Given the description of an element on the screen output the (x, y) to click on. 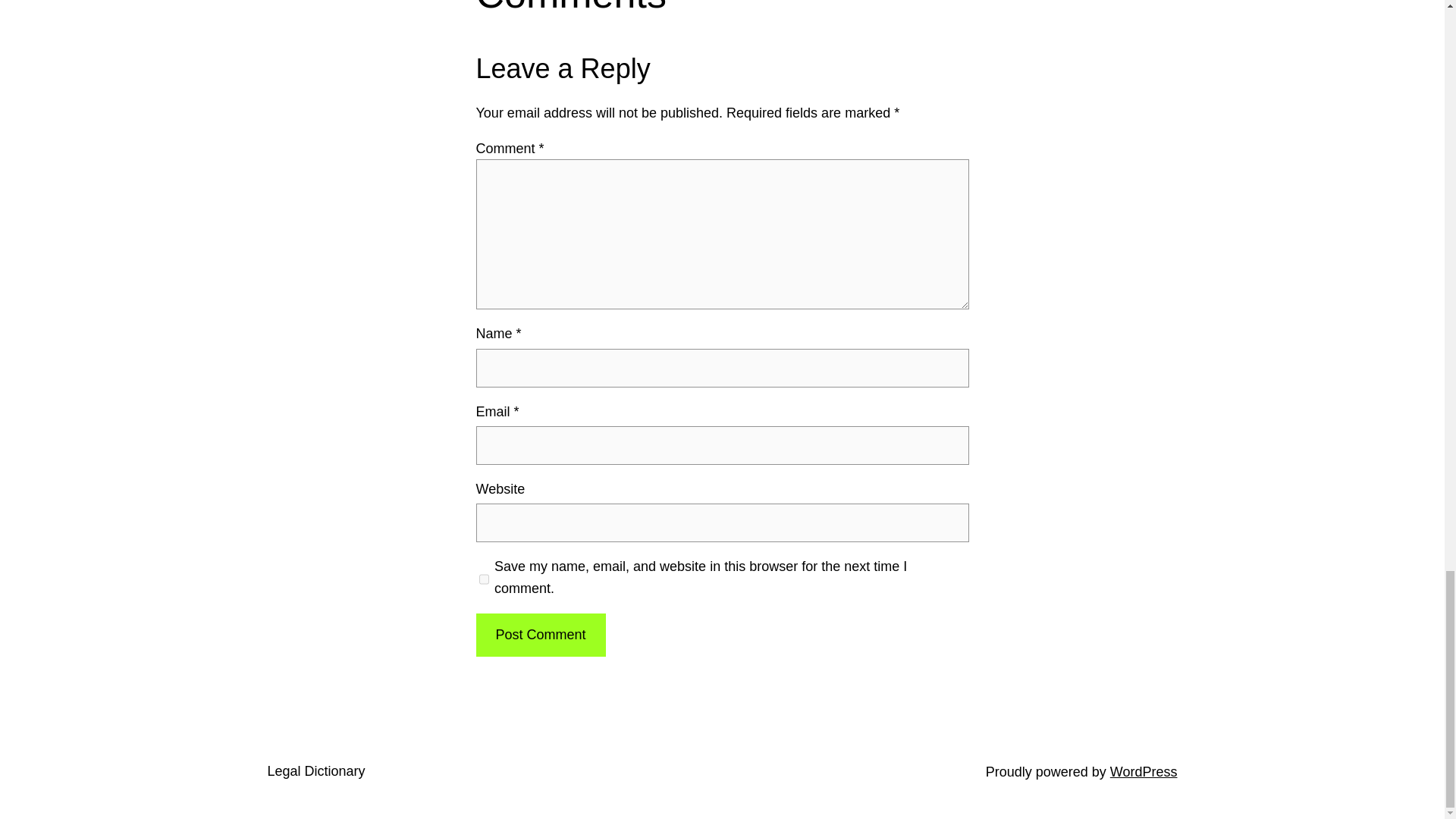
Post Comment (540, 634)
